Given the description of an element on the screen output the (x, y) to click on. 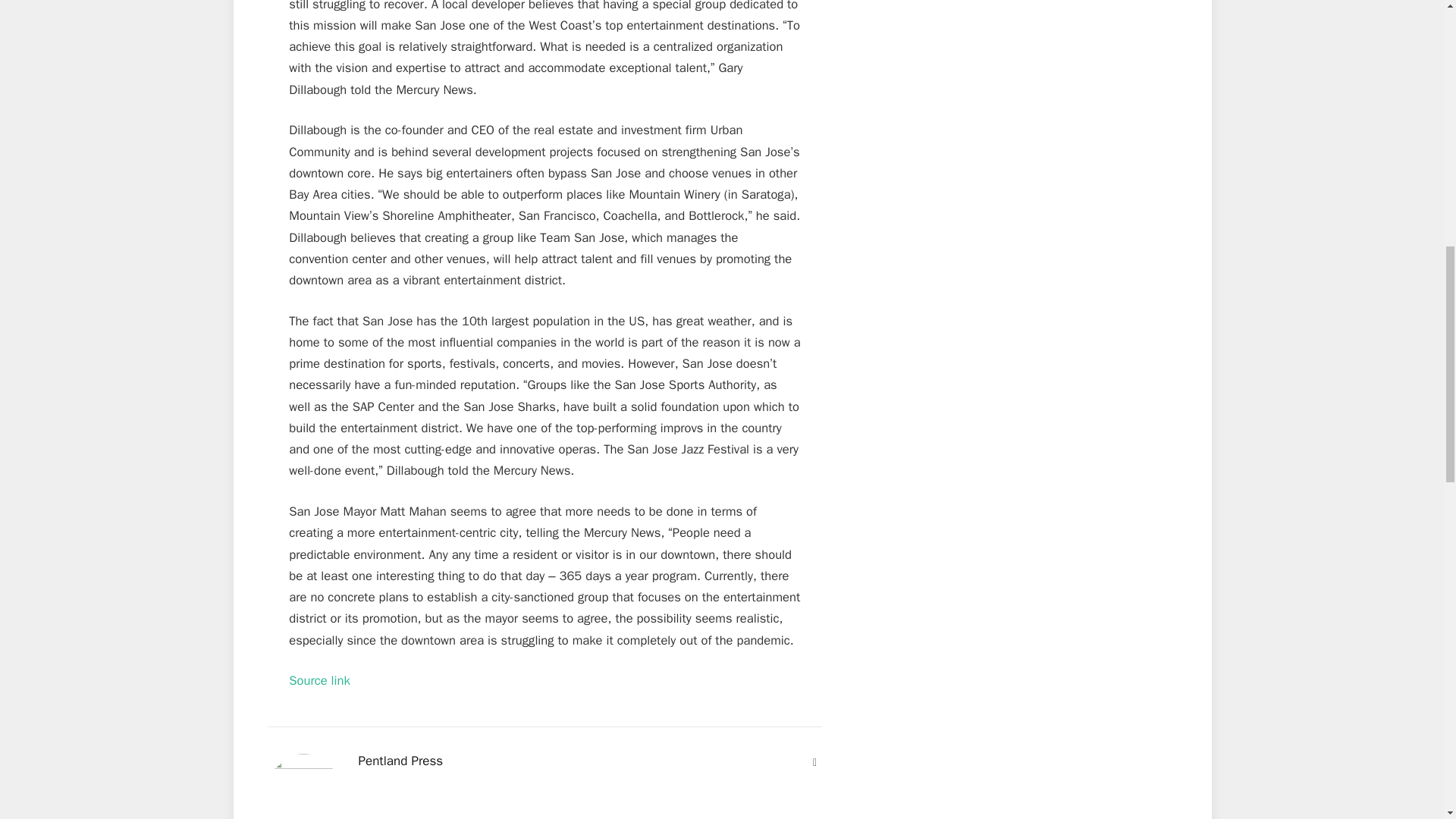
Pentland Press (400, 761)
Source link (319, 680)
Posts by Pentland Press (400, 761)
Website (814, 762)
Website (814, 762)
